Given the description of an element on the screen output the (x, y) to click on. 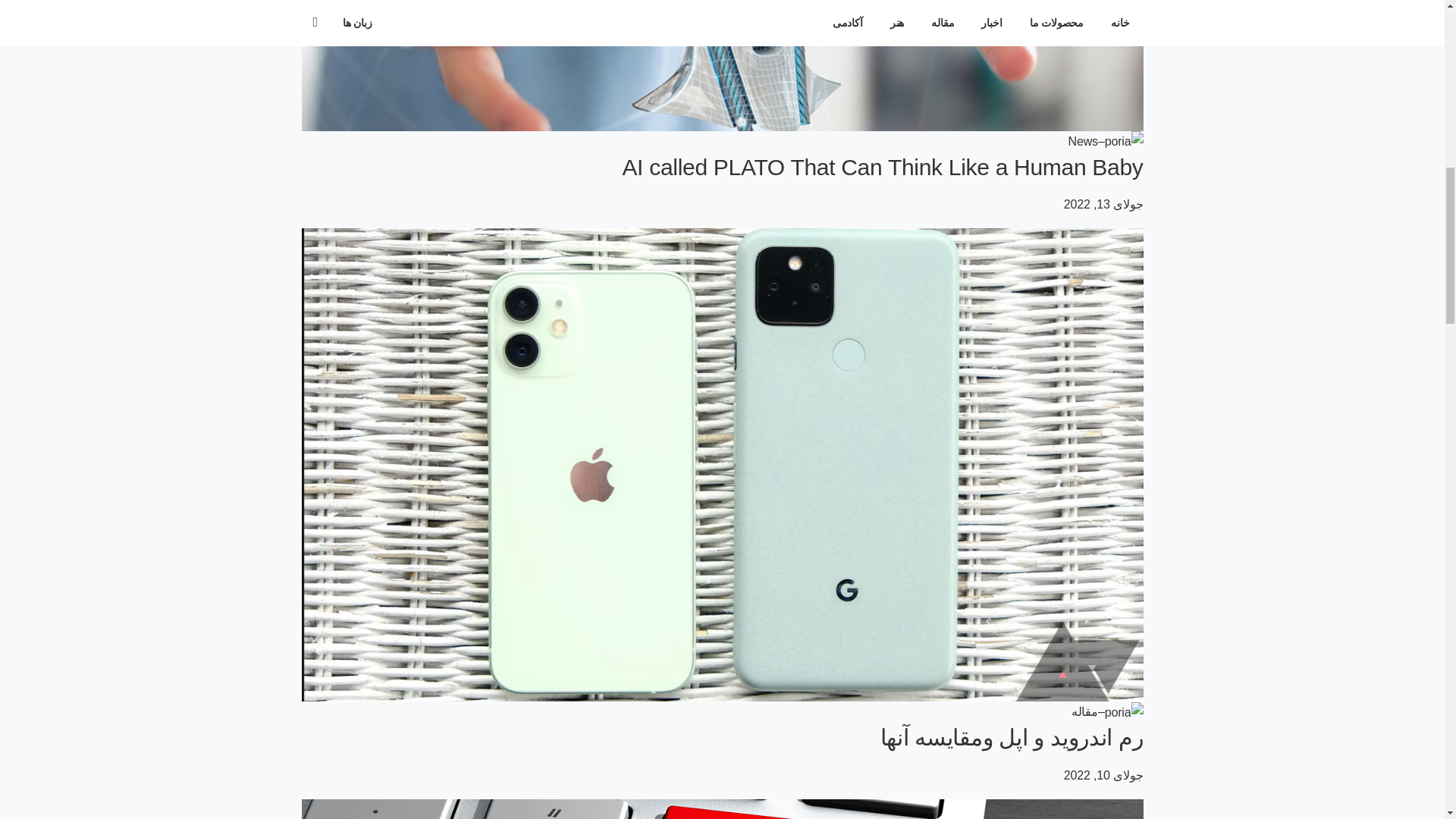
AI called PLATO That Can Think Like a Human Baby (881, 166)
News (1082, 141)
